Given the description of an element on the screen output the (x, y) to click on. 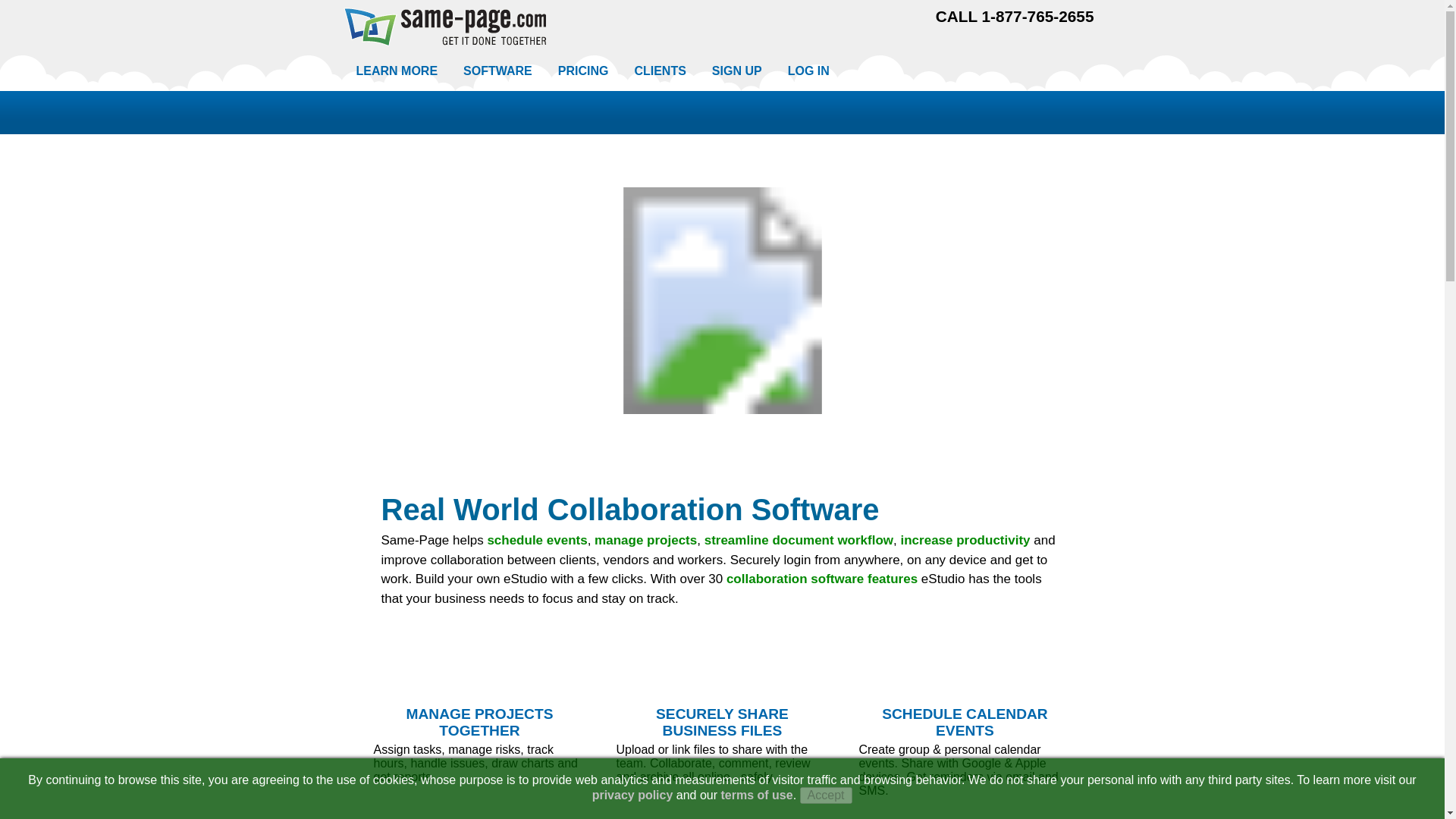
PRICING (583, 71)
Schedule Every Meeting (964, 666)
Share Every File (721, 666)
Organize Every Project (478, 666)
SIGN UP (736, 71)
SOFTWARE (497, 71)
LOG IN (808, 71)
LEARN MORE (395, 71)
CLIENTS (660, 71)
